Given the description of an element on the screen output the (x, y) to click on. 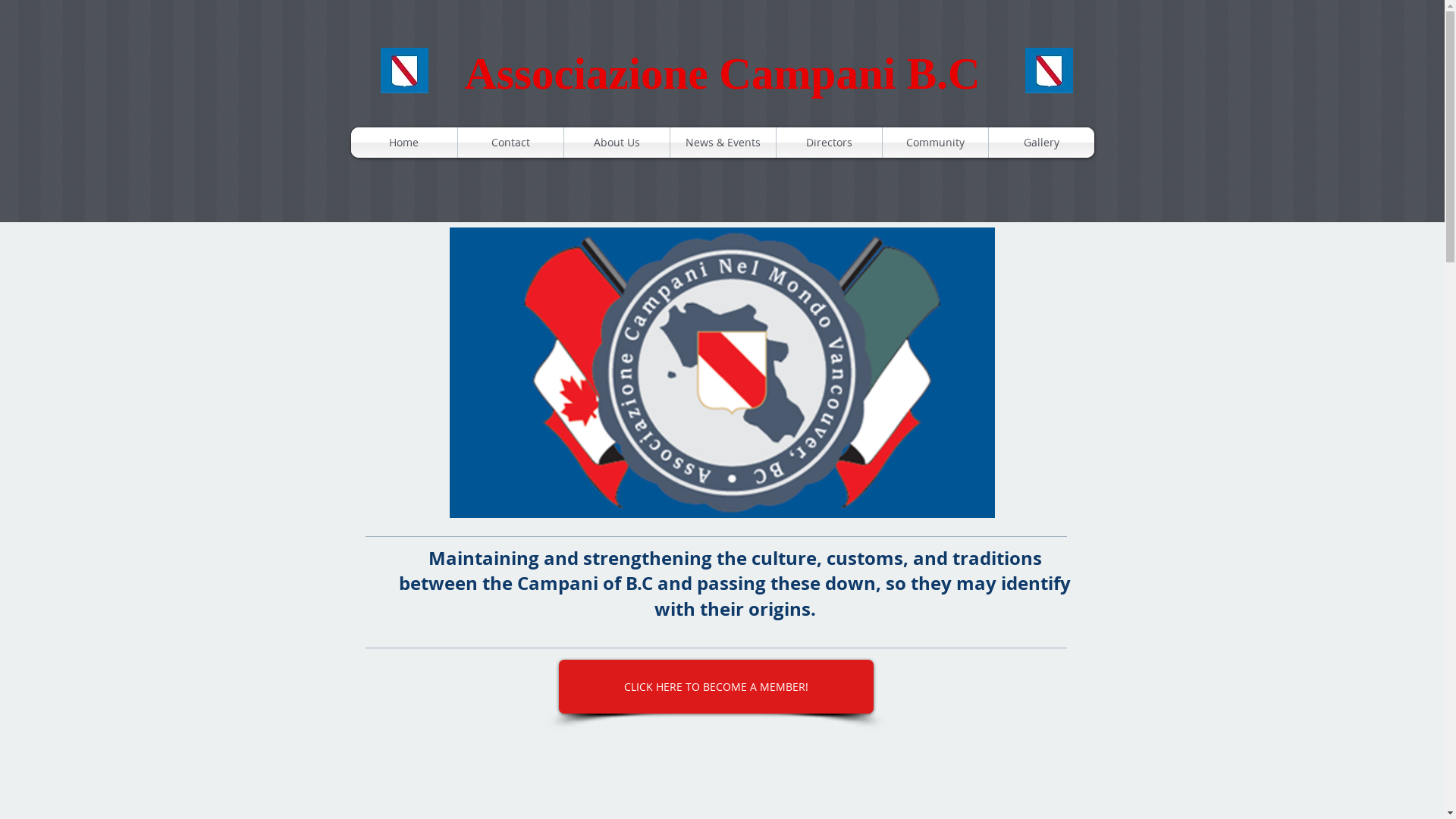
1779725_1507009706192132_210835445_n.jpg Element type: hover (1049, 70)
News & Events Element type: text (722, 142)
Contact Element type: text (510, 142)
Home Element type: text (403, 142)
Twitter Follow Element type: hover (432, 747)
Community Element type: text (935, 142)
CLICK HERE TO BECOME A MEMBER! Element type: text (715, 686)
1779725_1507009706192132_210835445_n.jpg Element type: hover (404, 70)
About Us Element type: text (616, 142)
Directors Element type: text (828, 142)
1781866_1507008902858879_447299166_n.png Element type: hover (721, 372)
Gallery Element type: text (1041, 142)
